Given the description of an element on the screen output the (x, y) to click on. 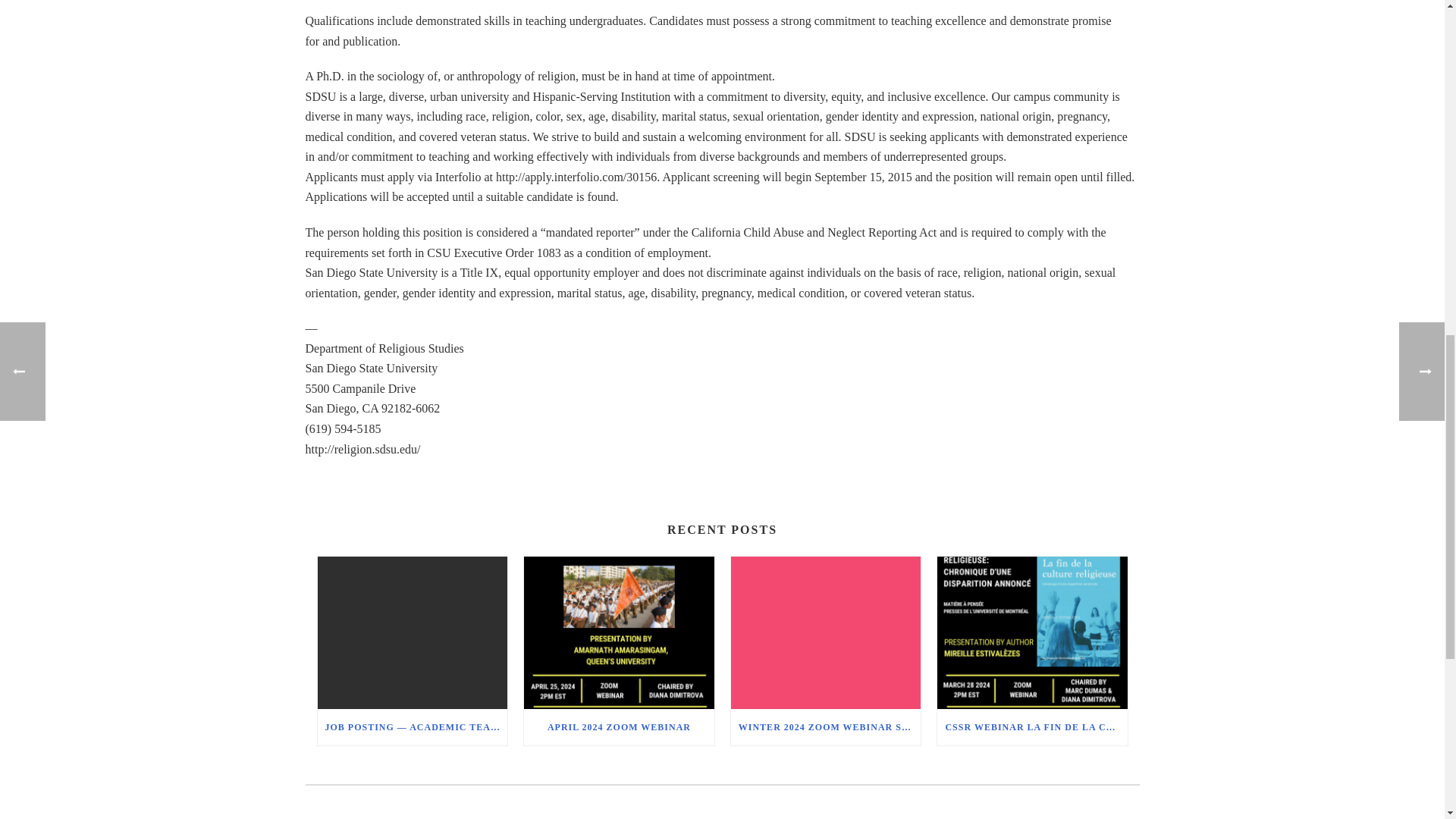
Winter 2024 Zoom Webinar Series (825, 632)
April 2024 Zoom Webinar (619, 632)
